Given the description of an element on the screen output the (x, y) to click on. 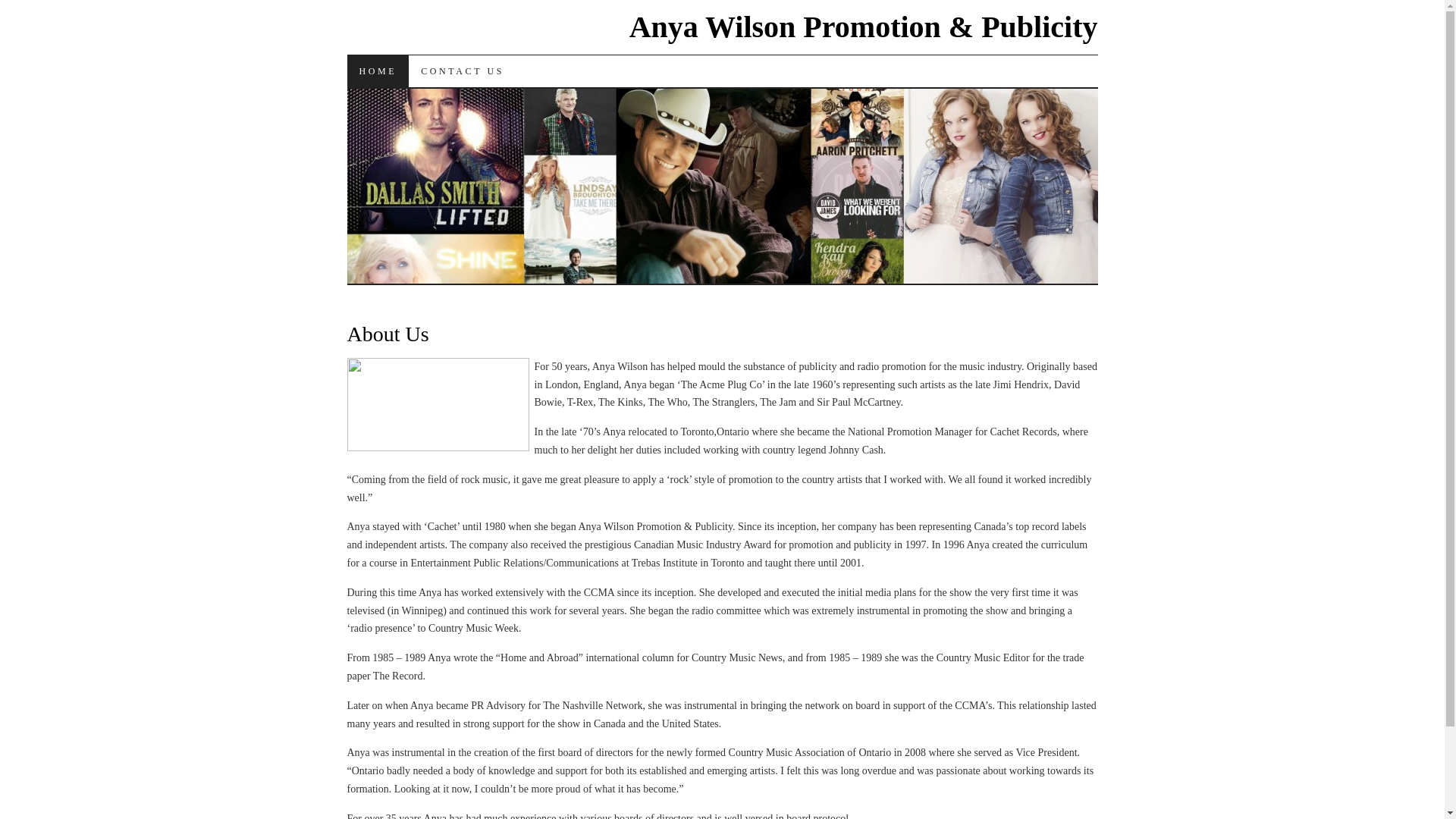
SKIP TO CONTENT Element type: text (428, 71)
Anya Wilson Promotion & Publicity Element type: text (863, 26)
CONTACT US Element type: text (462, 71)
HOME Element type: text (378, 71)
